Given the description of an element on the screen output the (x, y) to click on. 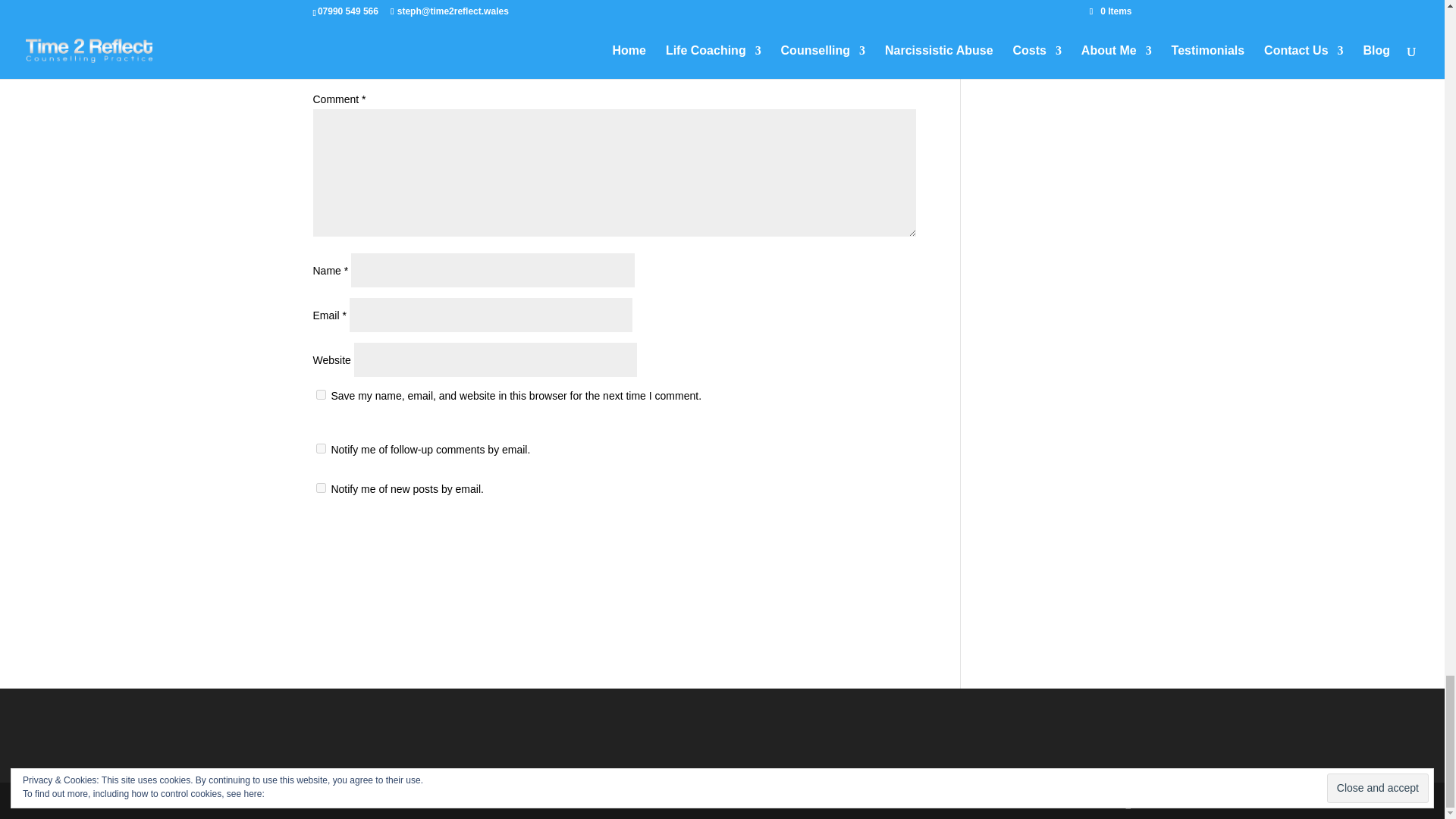
yes (319, 394)
Submit Comment (840, 538)
subscribe (319, 488)
subscribe (319, 448)
Submit Comment (840, 538)
